Given the description of an element on the screen output the (x, y) to click on. 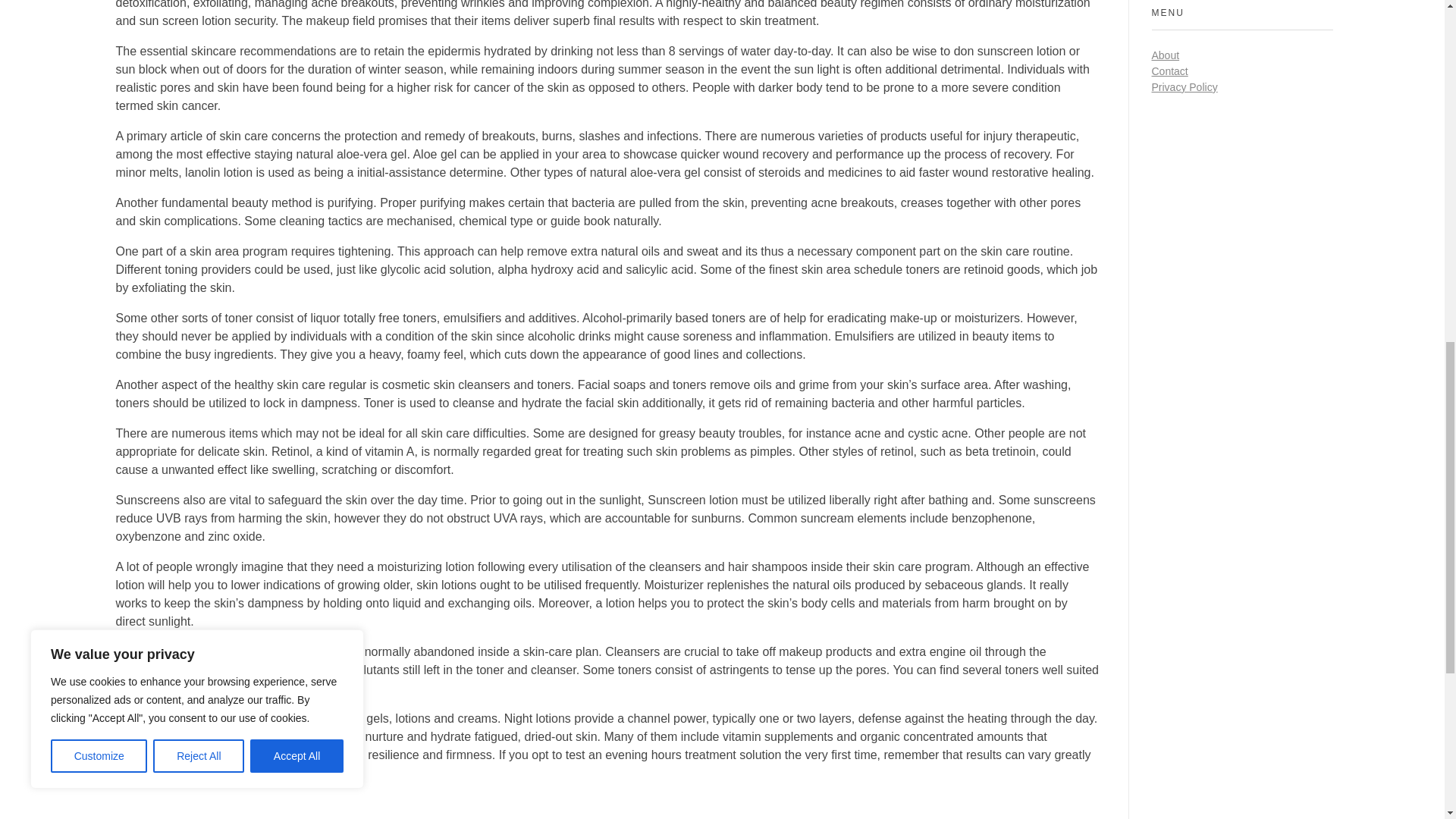
About (1165, 55)
Contact (1169, 70)
